Given the description of an element on the screen output the (x, y) to click on. 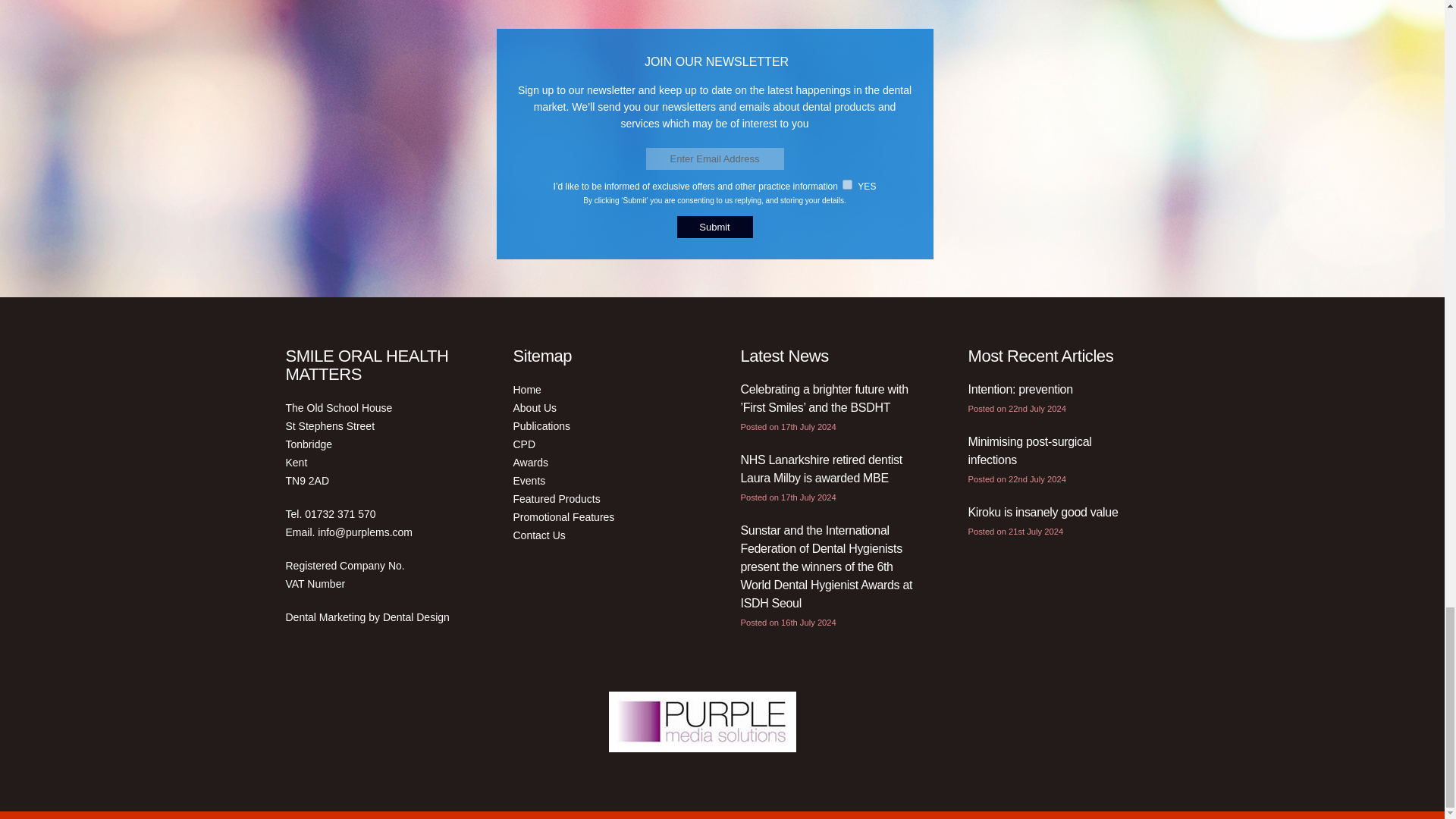
Submit (714, 227)
Yes (847, 184)
